Given the description of an element on the screen output the (x, y) to click on. 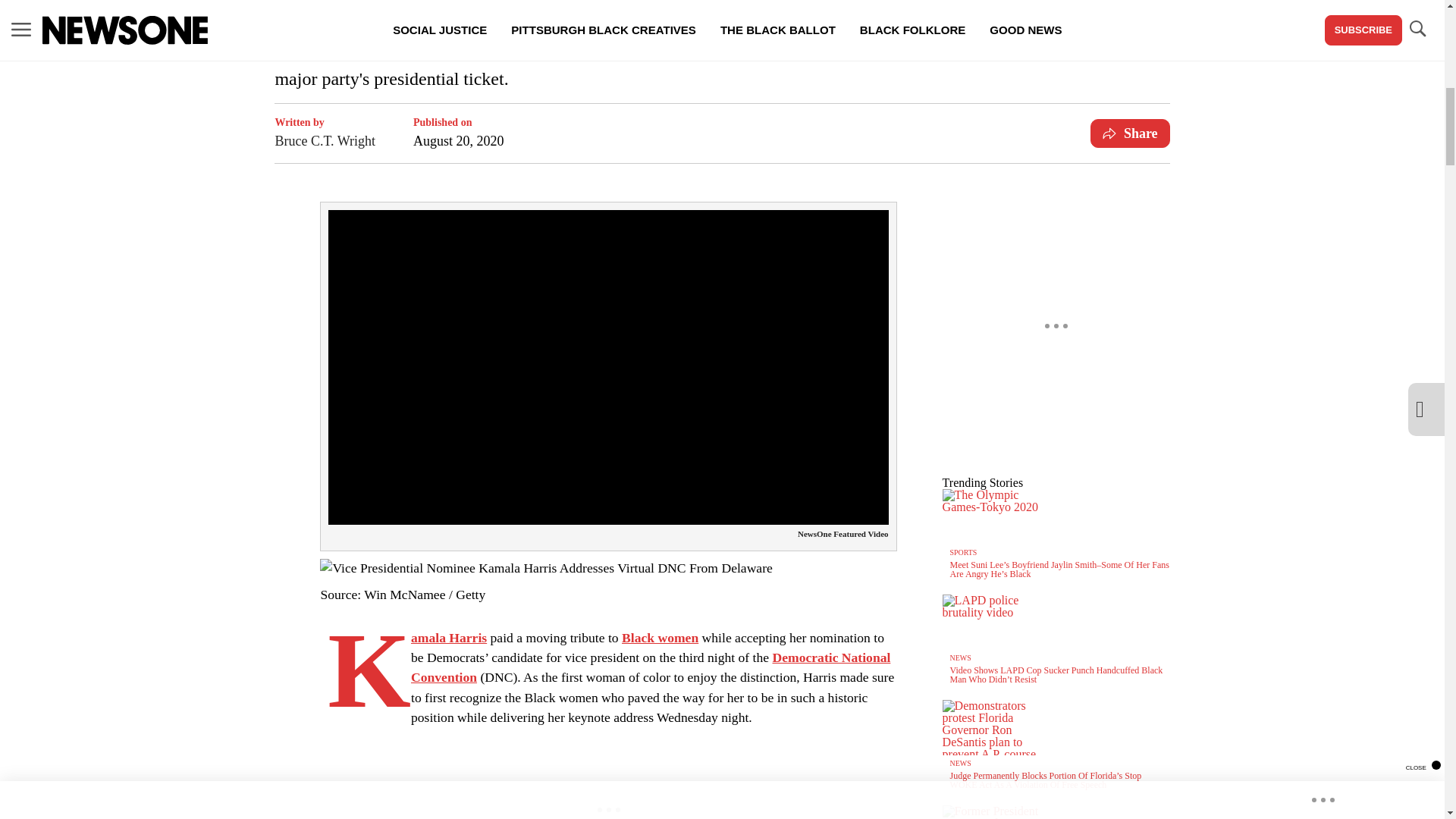
Share (1130, 133)
Bruce C.T. Wright (325, 140)
